Given the description of an element on the screen output the (x, y) to click on. 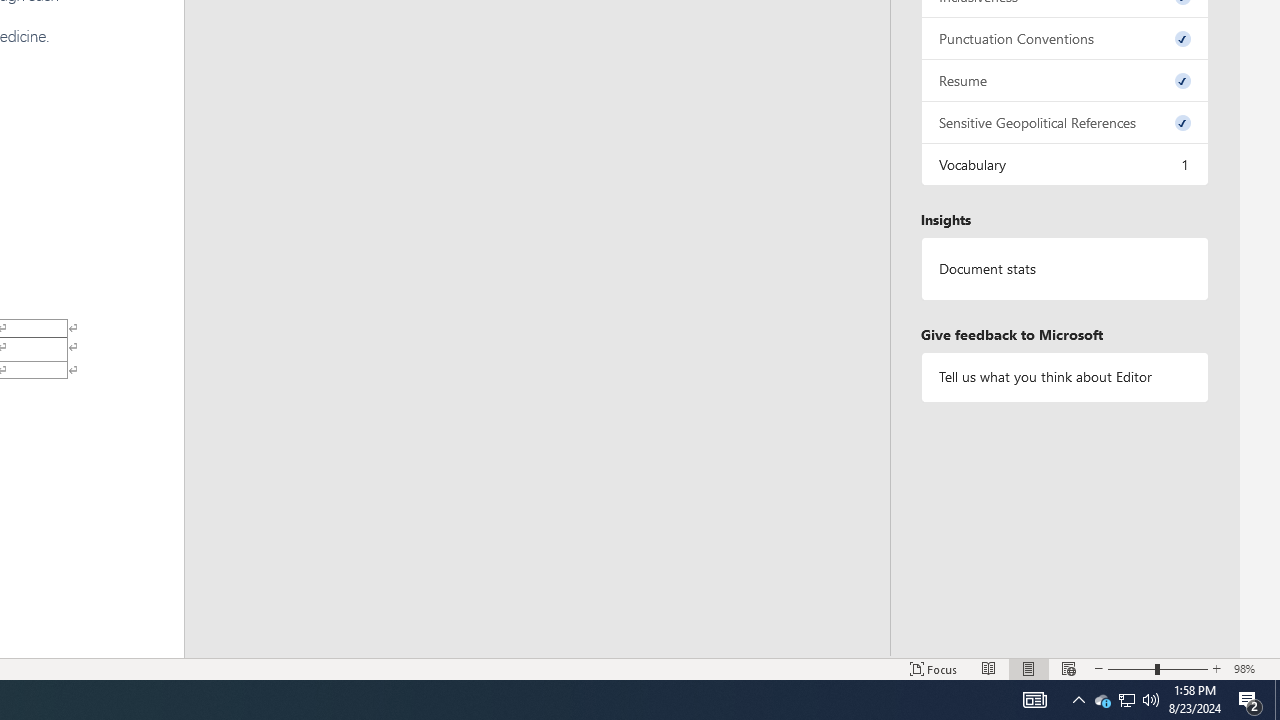
Document statistics (1064, 269)
Resume, 0 issues. Press space or enter to review items. (1064, 79)
Tell us what you think about Editor (1064, 376)
Vocabulary, 1 issue. Press space or enter to review items. (1064, 164)
